Given the description of an element on the screen output the (x, y) to click on. 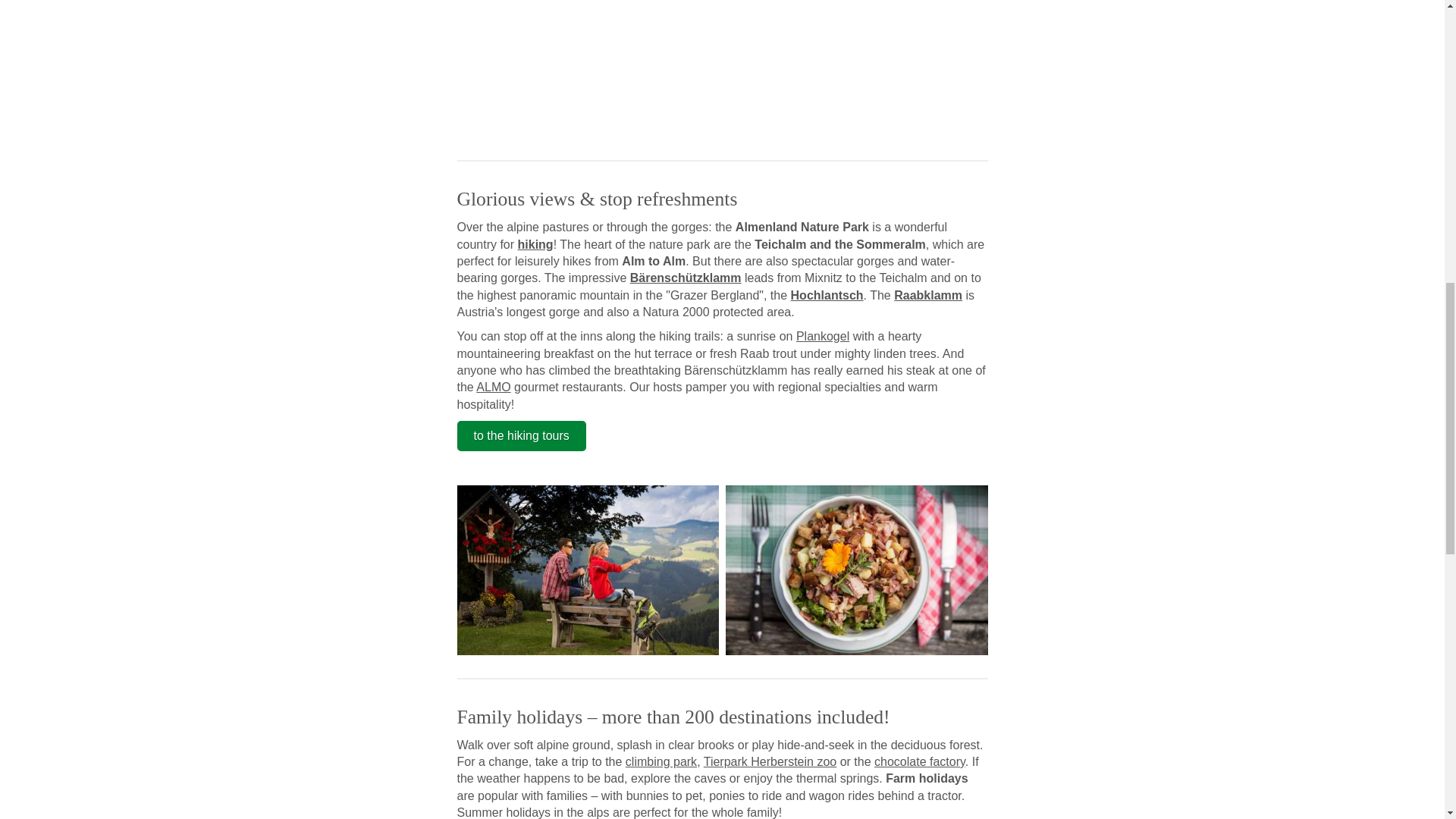
Raabklamm (927, 295)
Tierpark Herberstein zoo (769, 761)
to the climbing park (661, 761)
More about ALMO (493, 386)
chocolate factory (920, 761)
to the animal park Herberstein (769, 761)
more about hiking (521, 435)
More about Raabklamm (927, 295)
more about hiking (535, 244)
to the chocolate factory (920, 761)
